Given the description of an element on the screen output the (x, y) to click on. 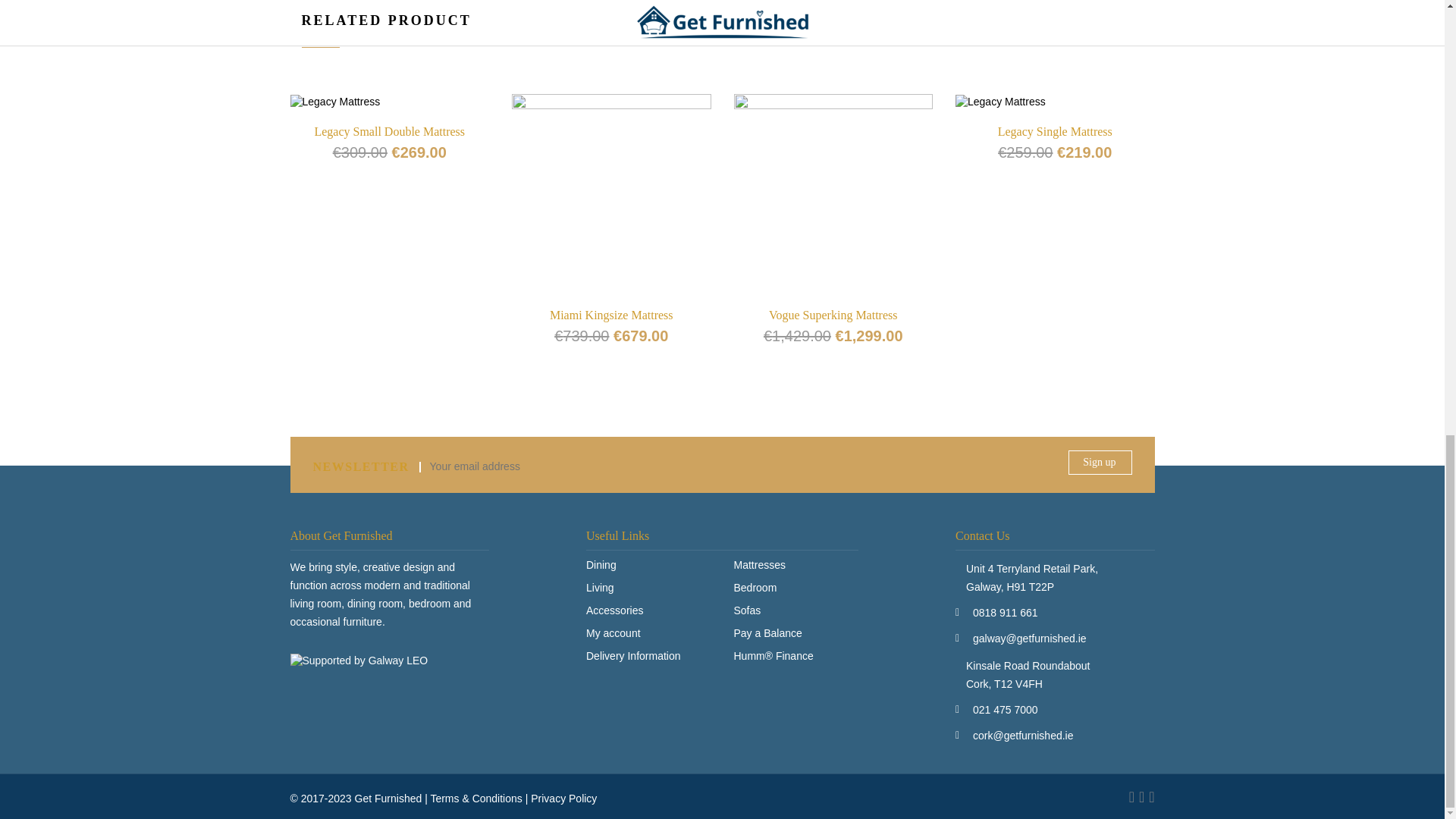
Sign up (1099, 462)
